Given the description of an element on the screen output the (x, y) to click on. 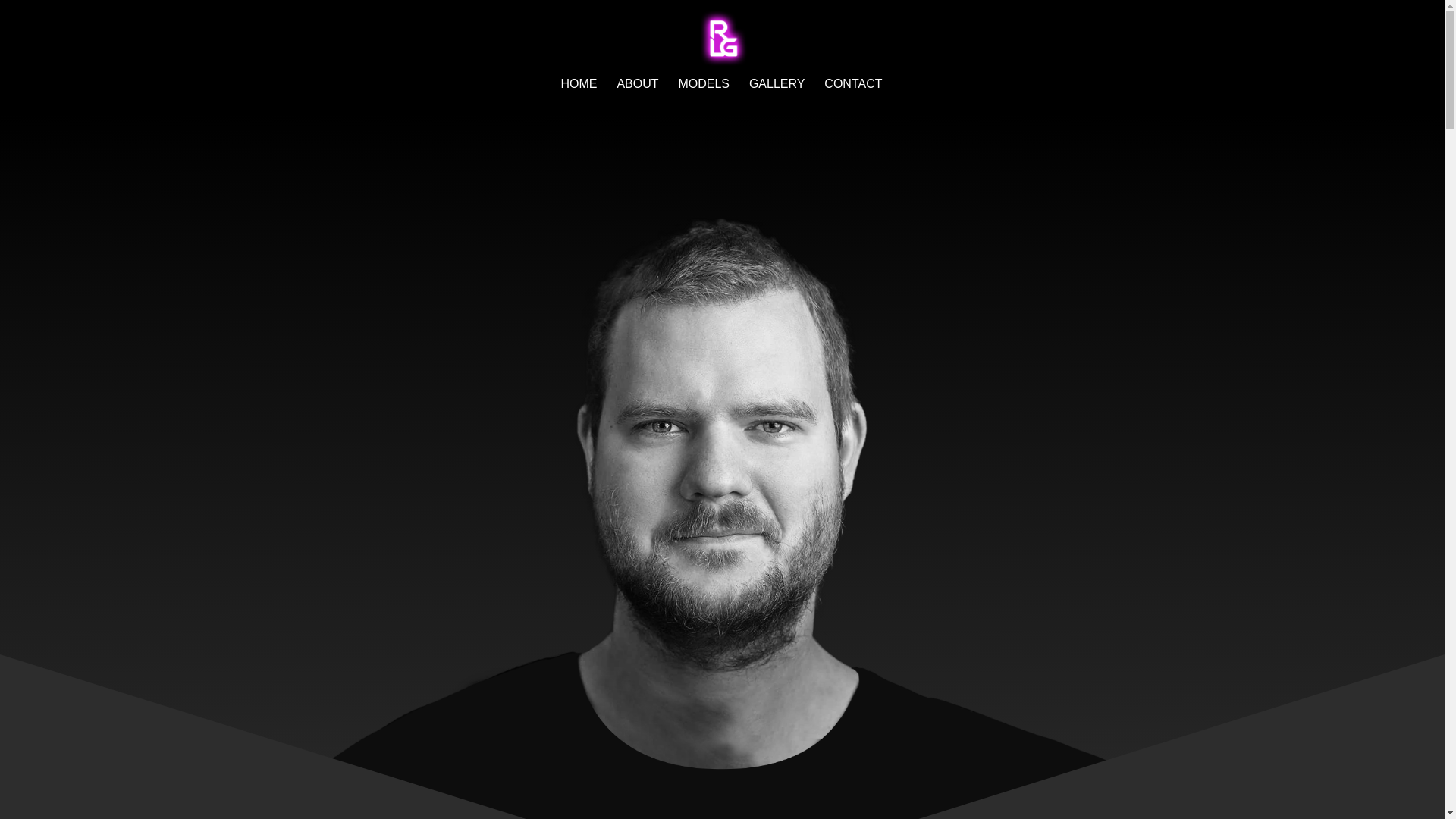
MODELS (703, 95)
HOME (578, 95)
GALLERY (777, 95)
CONTACT (853, 95)
ABOUT (636, 95)
